Given the description of an element on the screen output the (x, y) to click on. 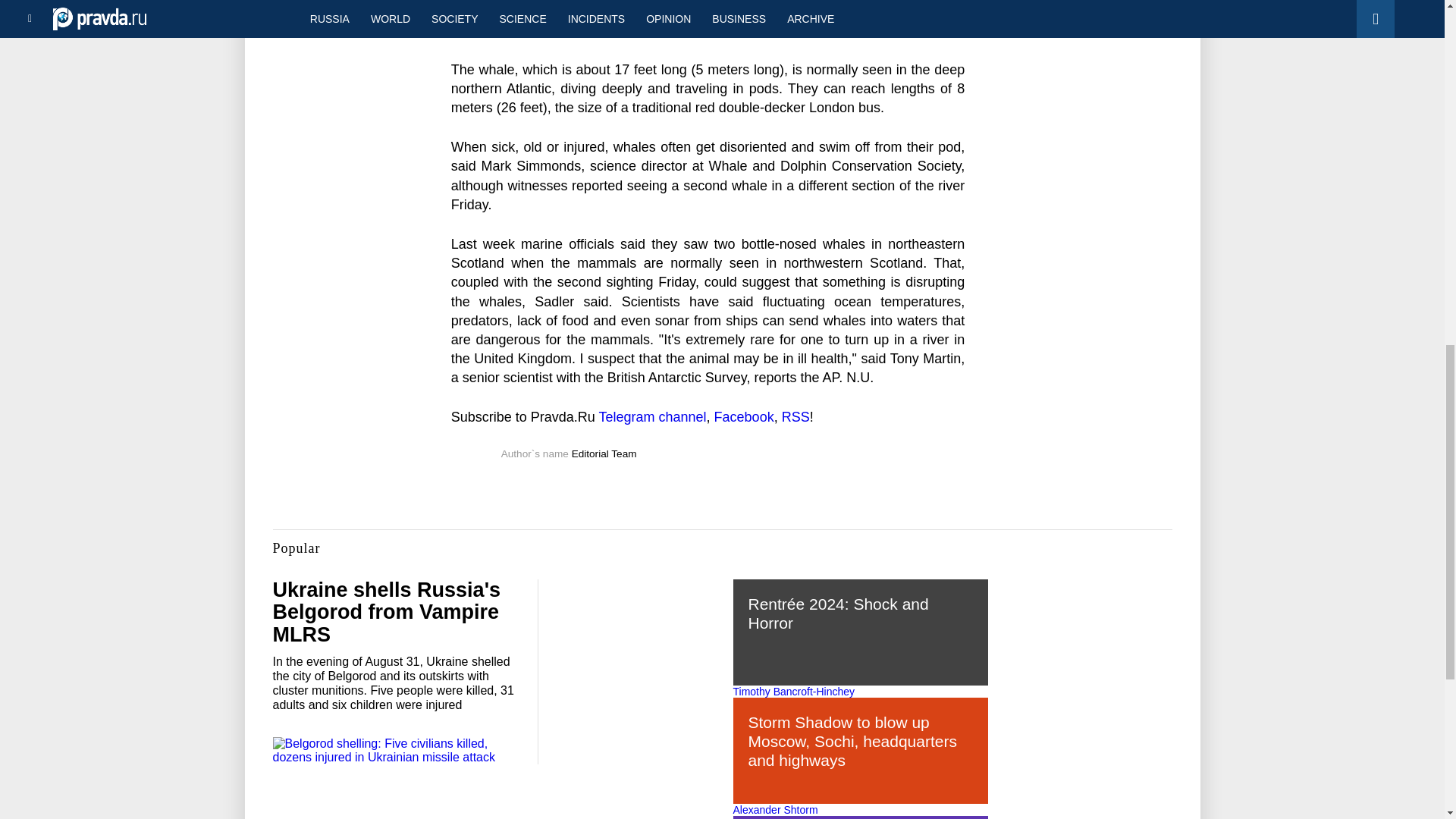
Editorial Team (604, 453)
Telegram channel (652, 417)
Back to top (1418, 79)
Ukraine shells Russia's Belgorod from Vampire MLRS (386, 612)
RSS (795, 417)
Facebook (744, 417)
